Given the description of an element on the screen output the (x, y) to click on. 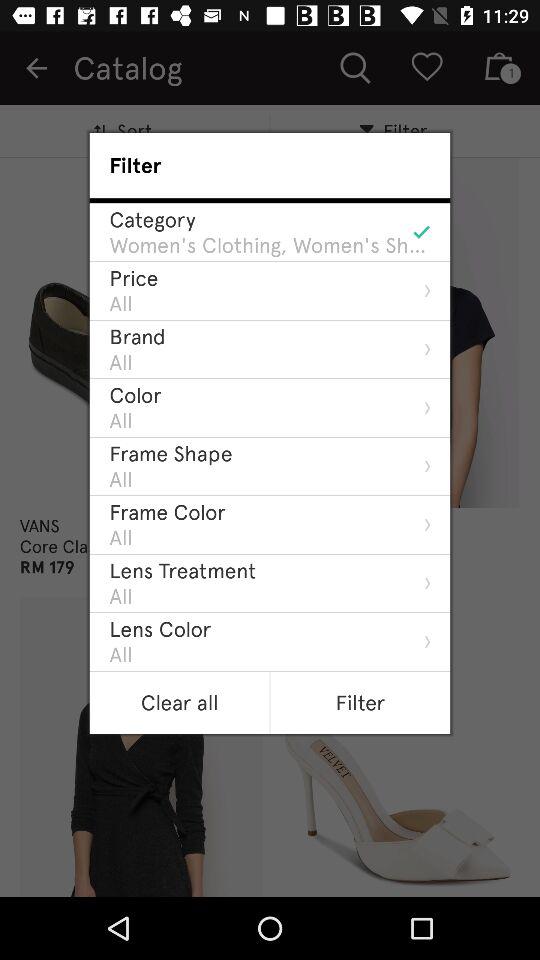
jump to lens color item (160, 628)
